Given the description of an element on the screen output the (x, y) to click on. 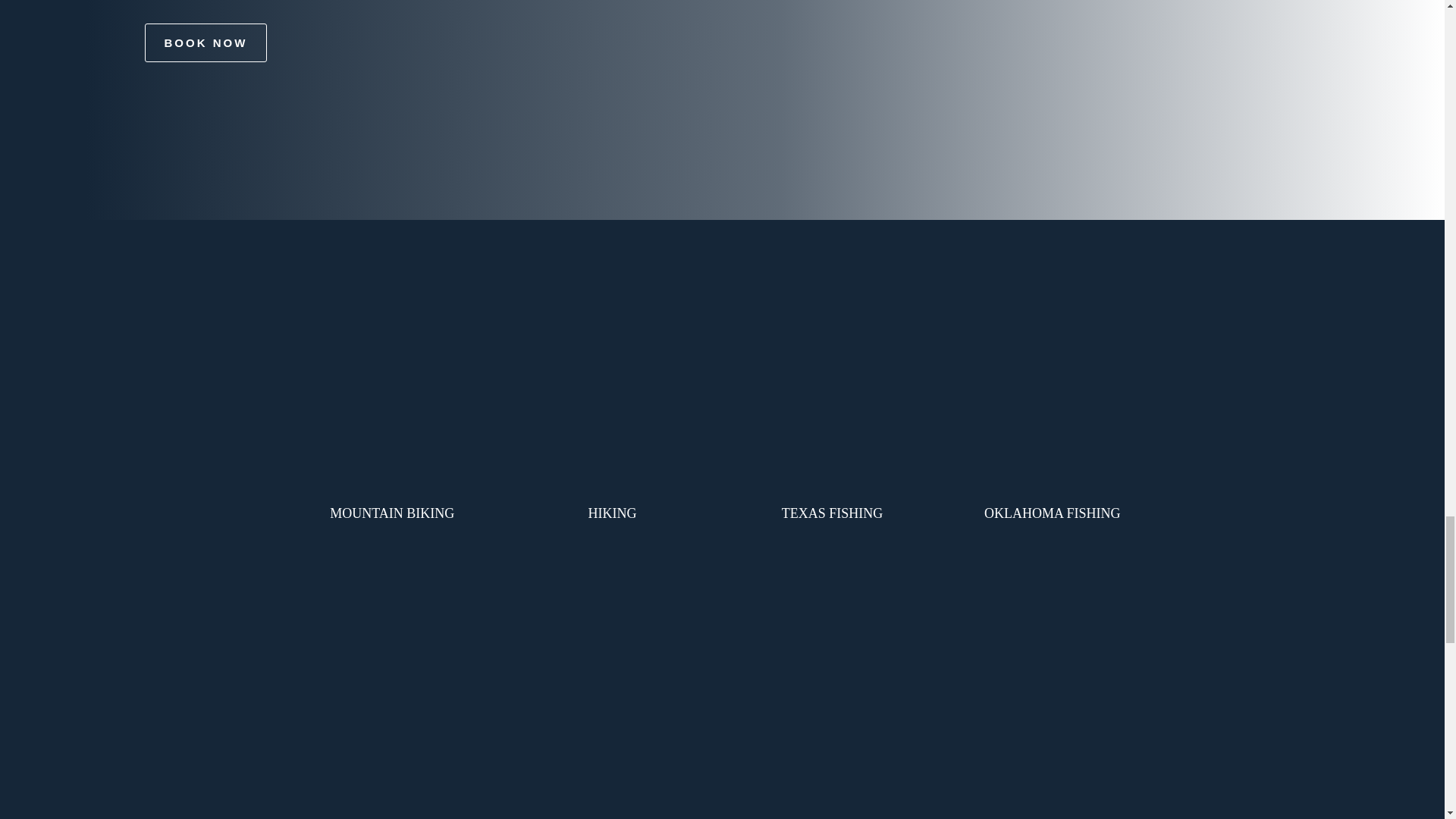
OKLAHOMA FISHING (1052, 513)
BOOK NOW (205, 43)
HIKING (612, 513)
TEXAS FISHING (832, 513)
MOUNTAIN BIKING (392, 513)
